Given the description of an element on the screen output the (x, y) to click on. 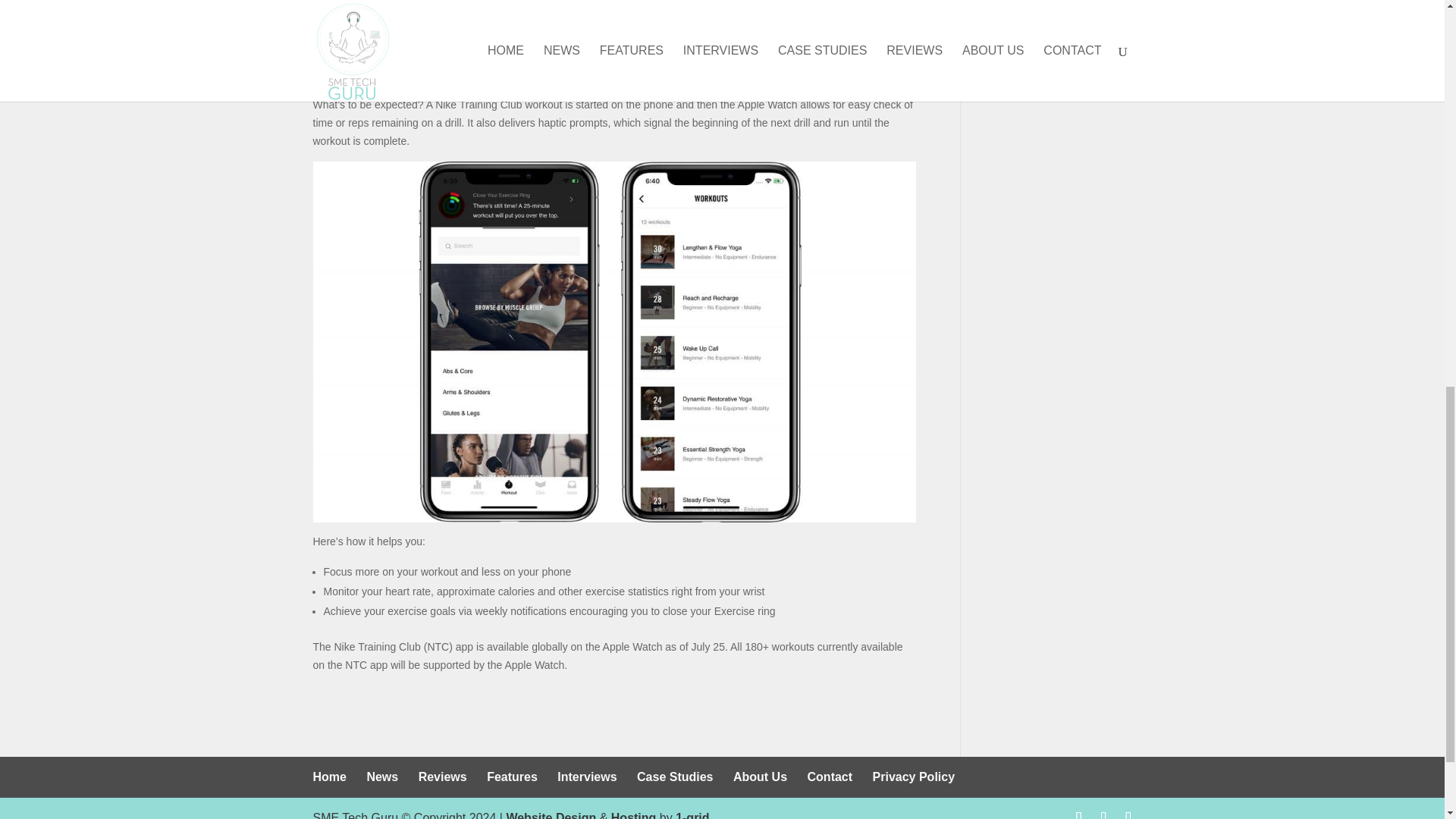
News (381, 776)
Home (329, 776)
Reviews (443, 776)
Features (511, 776)
Interviews (586, 776)
